Given the description of an element on the screen output the (x, y) to click on. 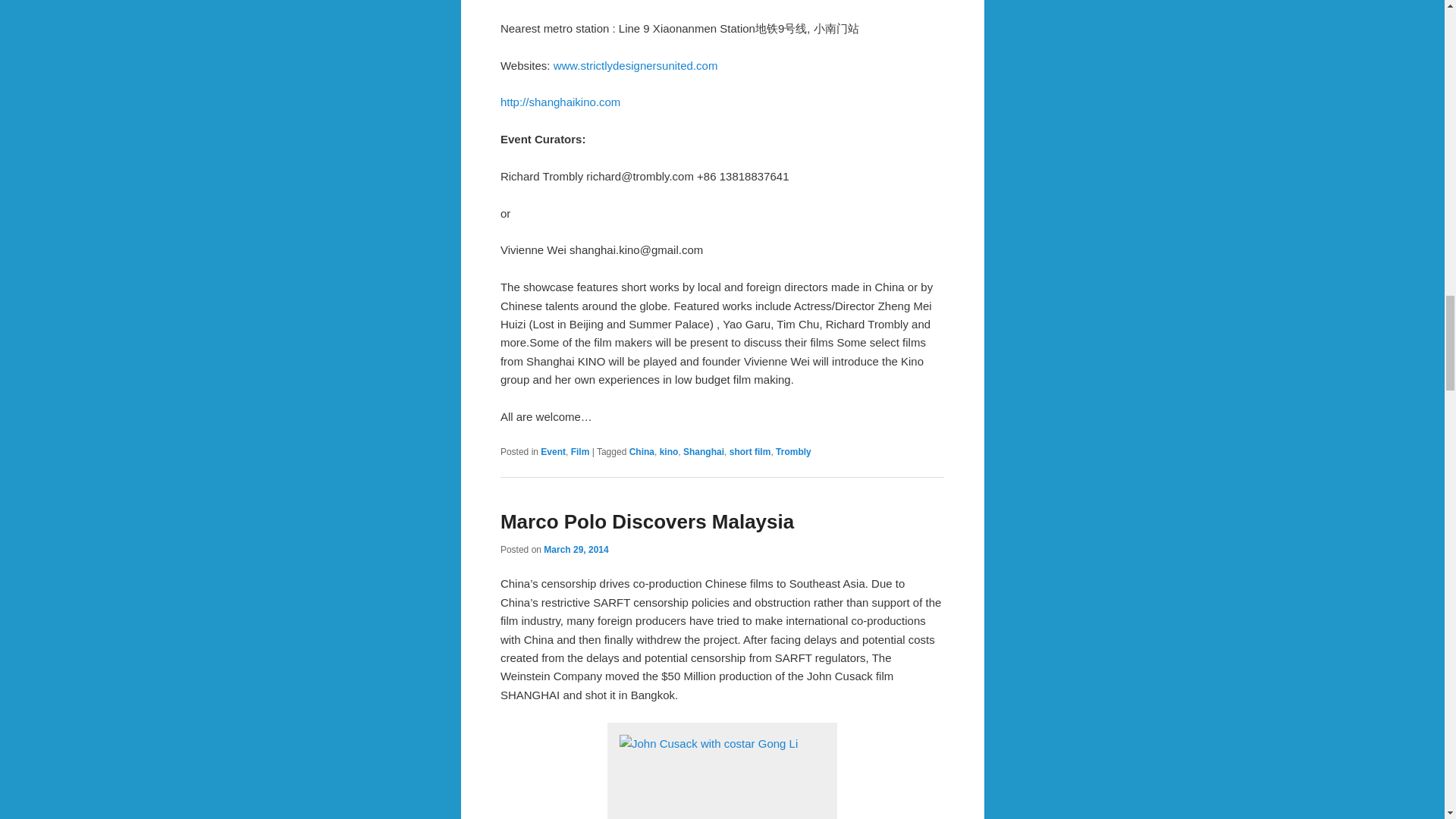
Film (579, 451)
15:21 (575, 549)
kino (668, 451)
www.strictlydesignersunited.com (635, 65)
Shanghai (702, 451)
Event (553, 451)
China (640, 451)
